Given the description of an element on the screen output the (x, y) to click on. 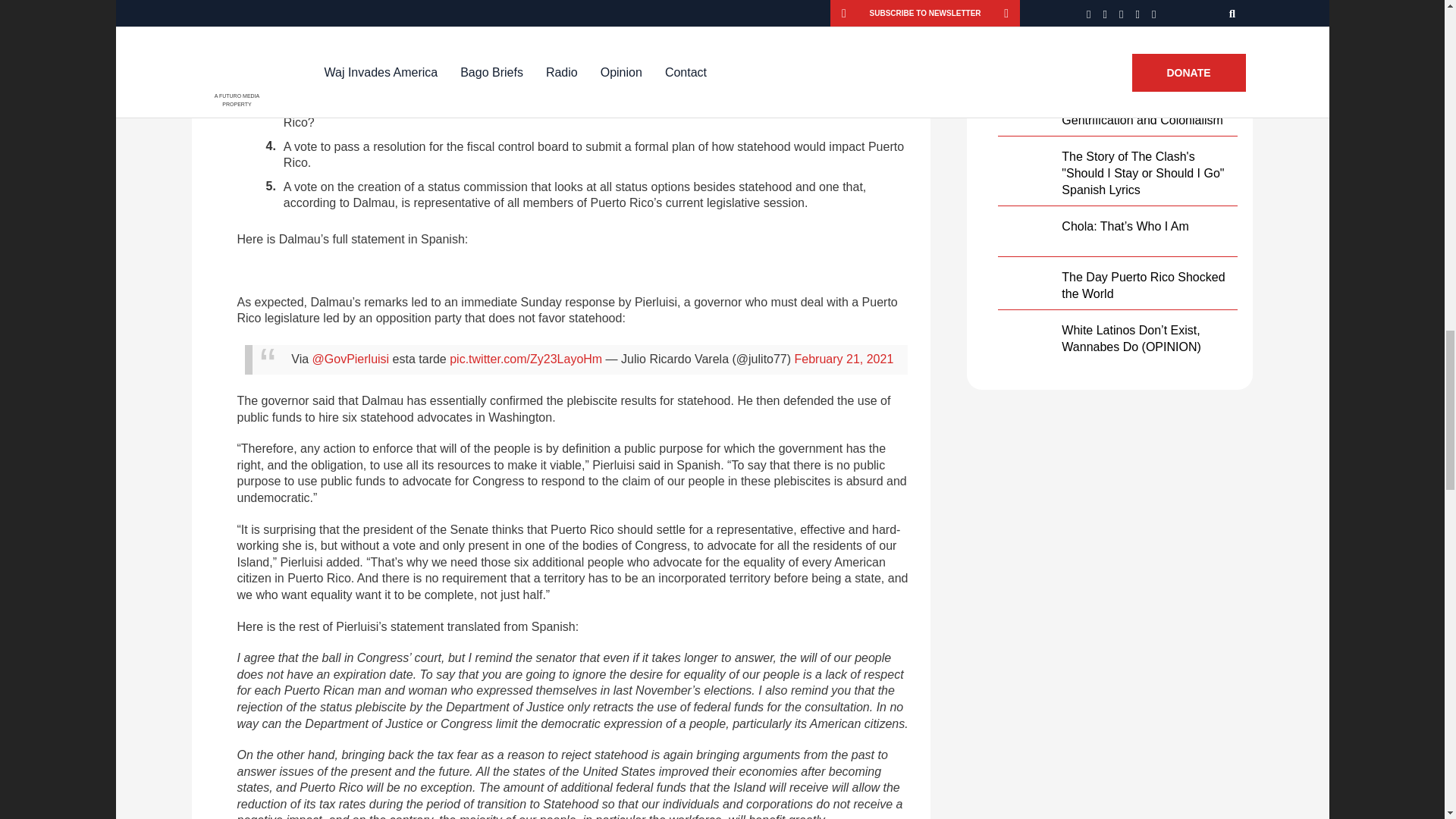
February 21, 2021 (843, 358)
